Given the description of an element on the screen output the (x, y) to click on. 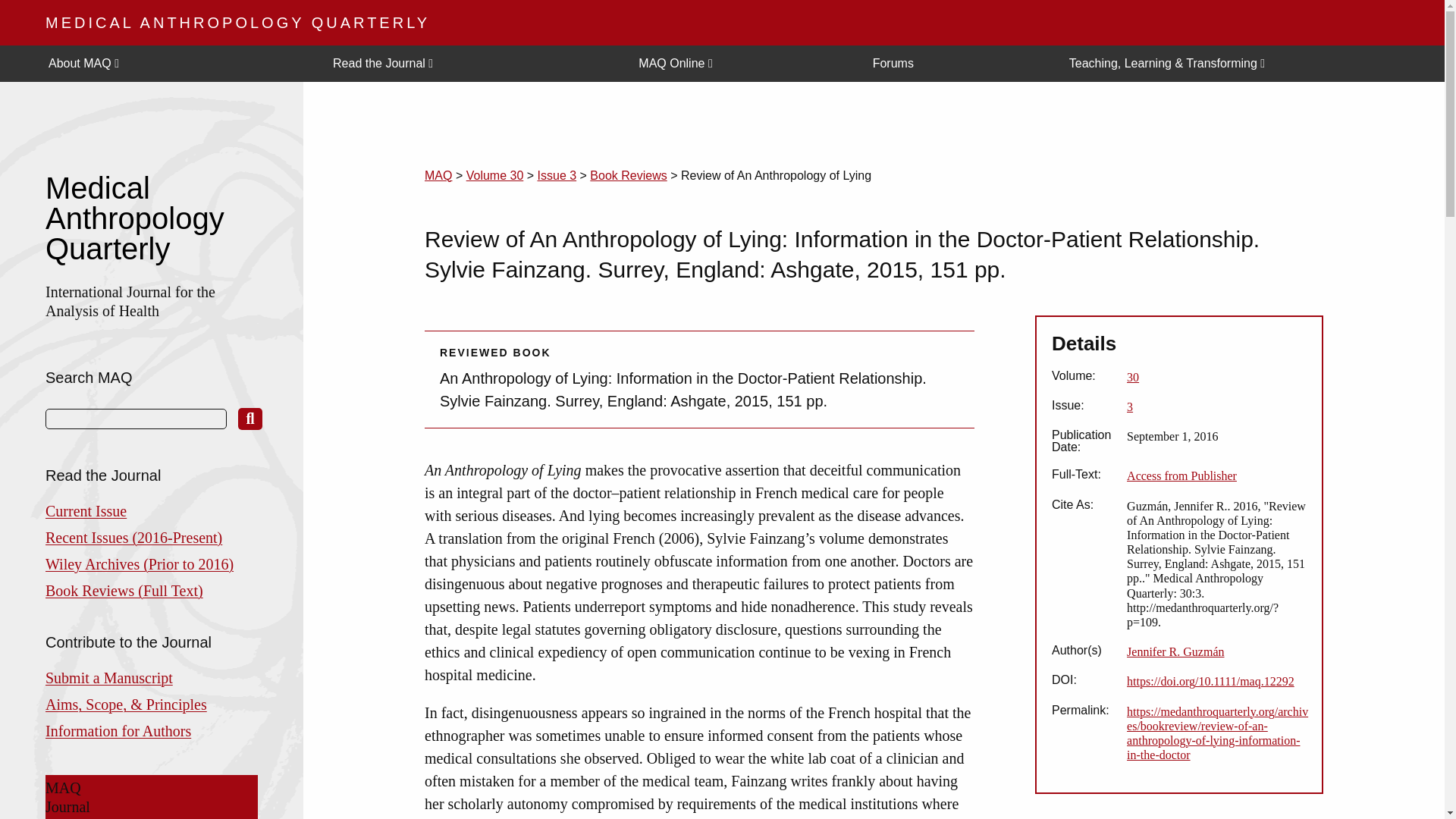
Search for: (136, 418)
MEDICAL ANTHROPOLOGY QUARTERLY (237, 22)
About MAQ (178, 63)
Read the Journal (473, 63)
